Given the description of an element on the screen output the (x, y) to click on. 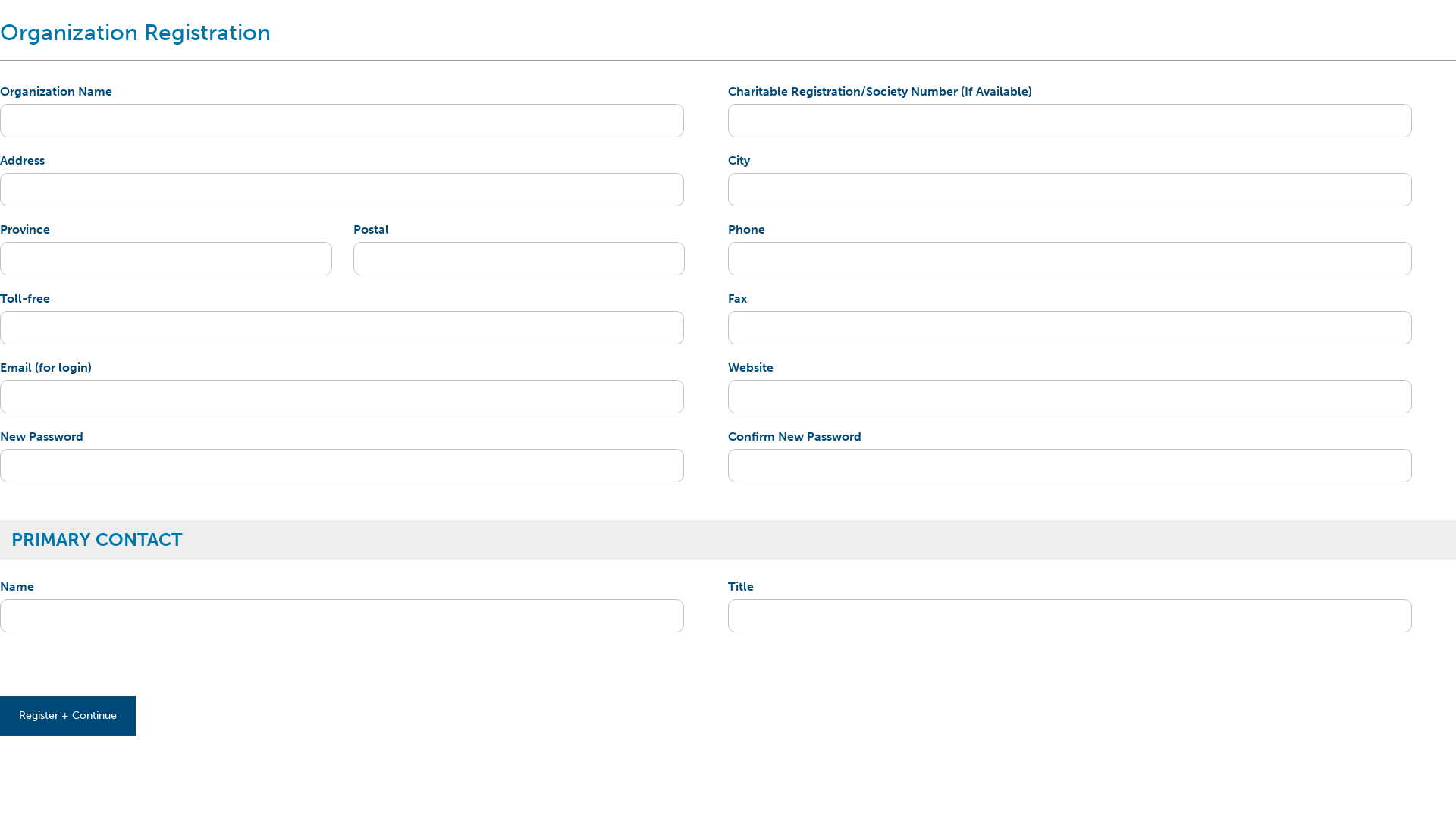
Register + Continue Element type: text (67, 715)
